Given the description of an element on the screen output the (x, y) to click on. 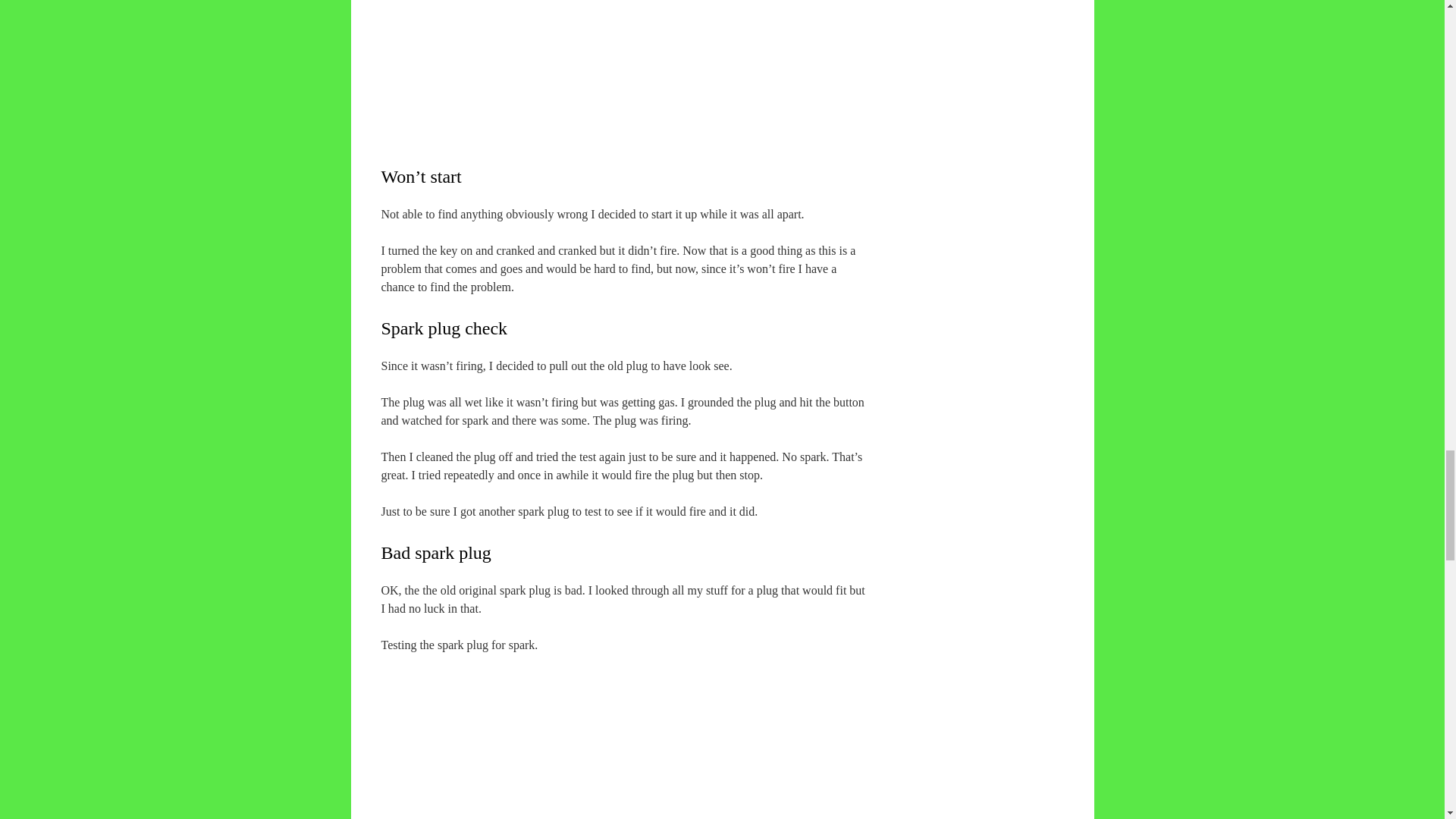
plug (630, 736)
gaslines (630, 51)
